Given the description of an element on the screen output the (x, y) to click on. 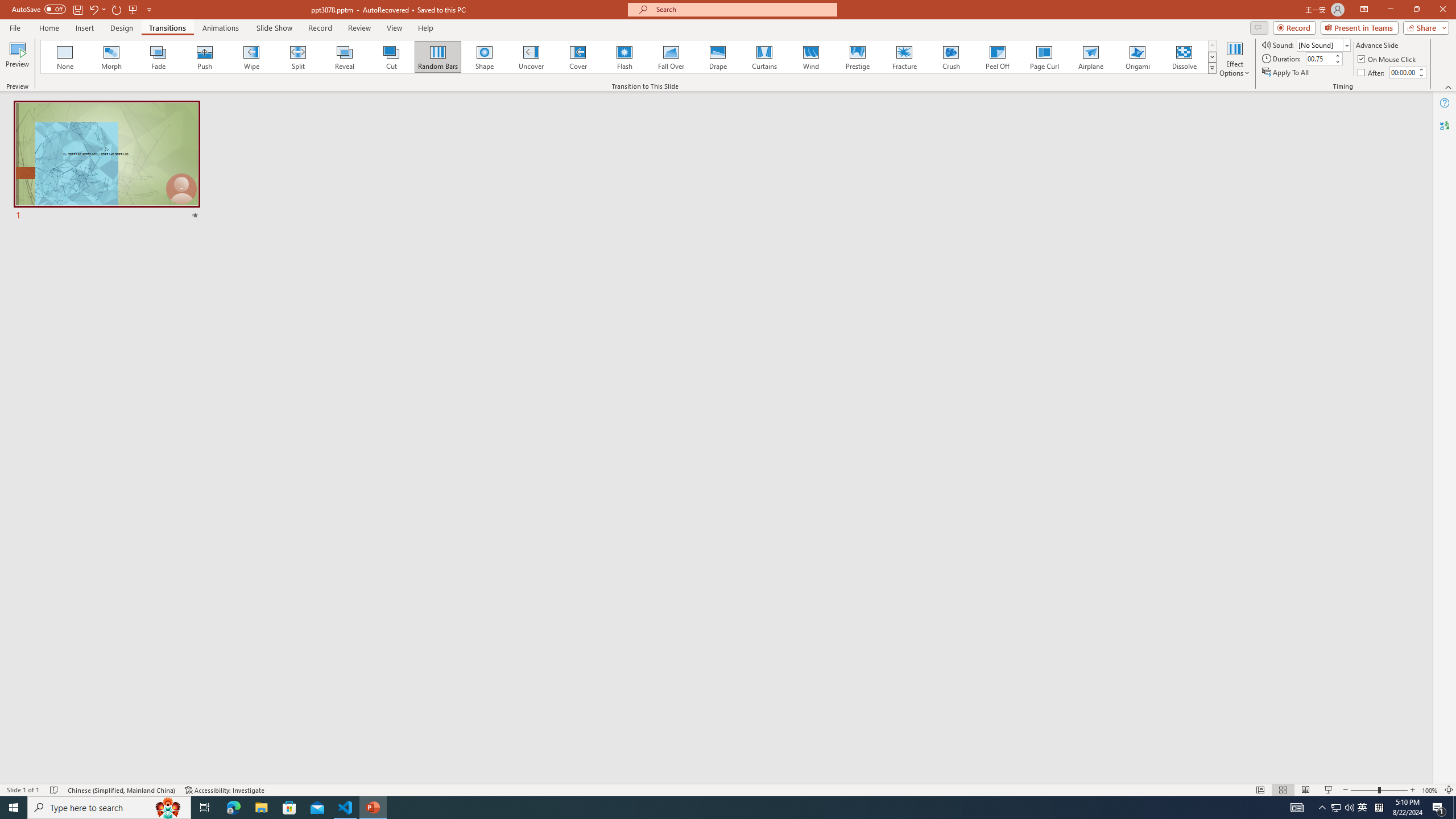
Fracture (903, 56)
